Given the description of an element on the screen output the (x, y) to click on. 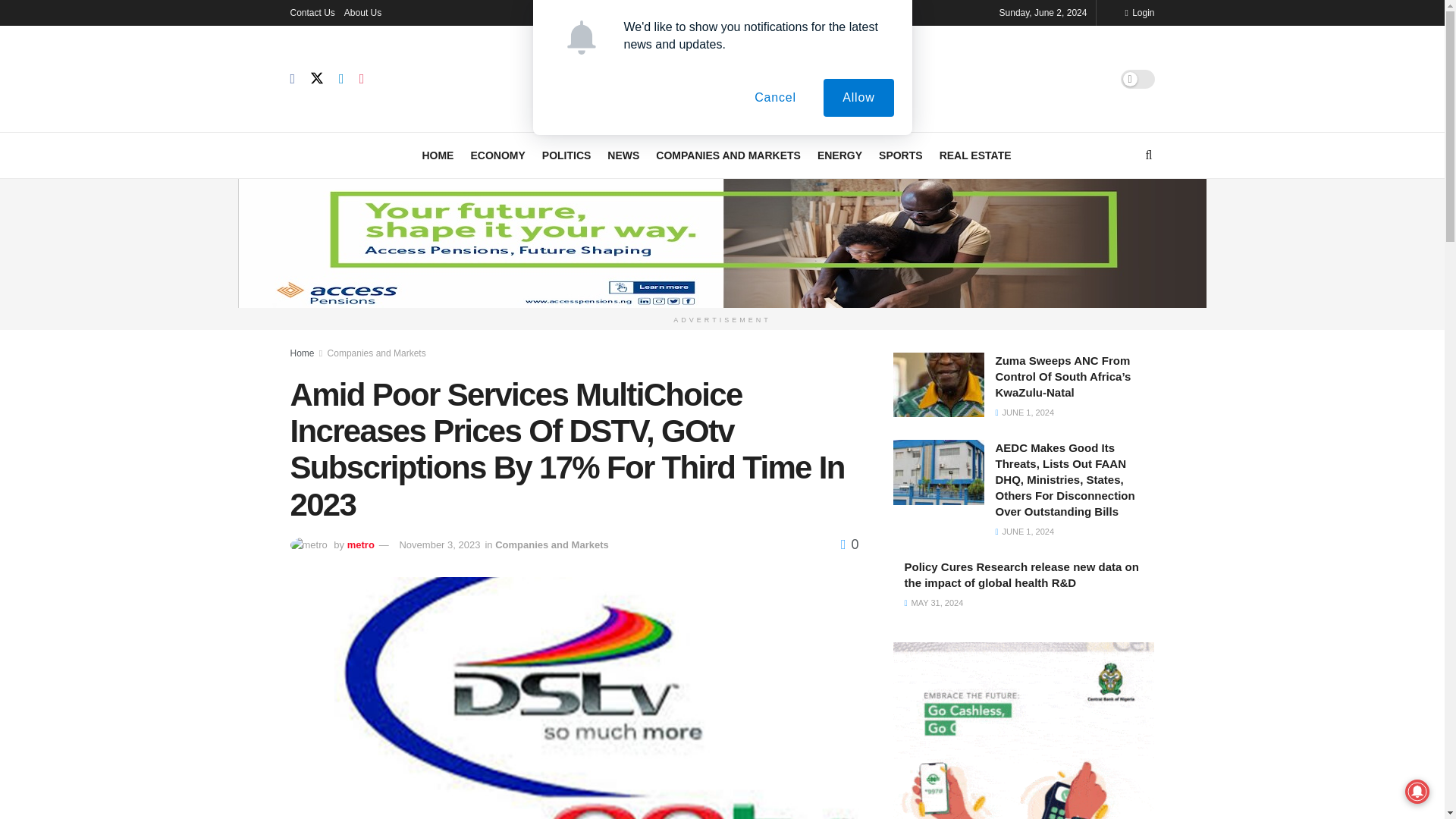
NEWS (623, 155)
Companies and Markets (376, 352)
metro (360, 544)
November 3, 2023 (439, 544)
SPORTS (901, 155)
POLITICS (566, 155)
Companies and Markets (551, 544)
ENERGY (838, 155)
Login (1139, 12)
About Us (362, 12)
Home (301, 352)
Contact Us (311, 12)
HOME (437, 155)
REAL ESTATE (975, 155)
COMPANIES AND MARKETS (728, 155)
